Given the description of an element on the screen output the (x, y) to click on. 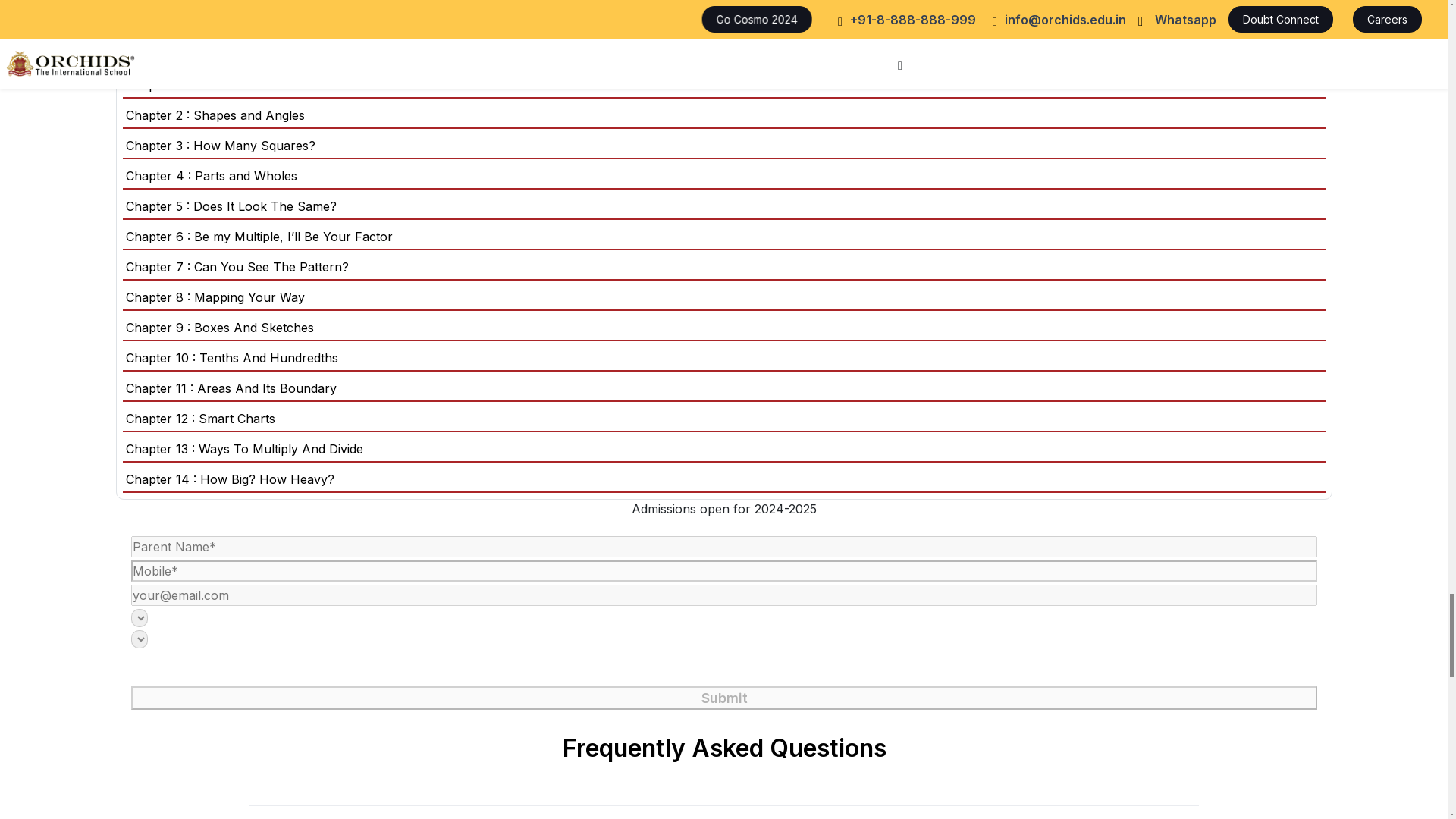
Chapter 13 : Ways To Multiply And Divide (243, 448)
Chapter 2 : Shapes and Angles (214, 114)
Chapter 12 : Smart Charts (200, 418)
Chapter 3 : How Many Squares? (220, 145)
Chapter 4 : Parts and Wholes (211, 175)
Chapter 1 : The Fish Tale (197, 84)
Submit (724, 698)
Chapter 9 : Boxes And Sketches (219, 327)
Please enter a 10-digit numeric mobile number. (724, 570)
Chapter 7 : Can You See The Pattern? (237, 266)
